Given the description of an element on the screen output the (x, y) to click on. 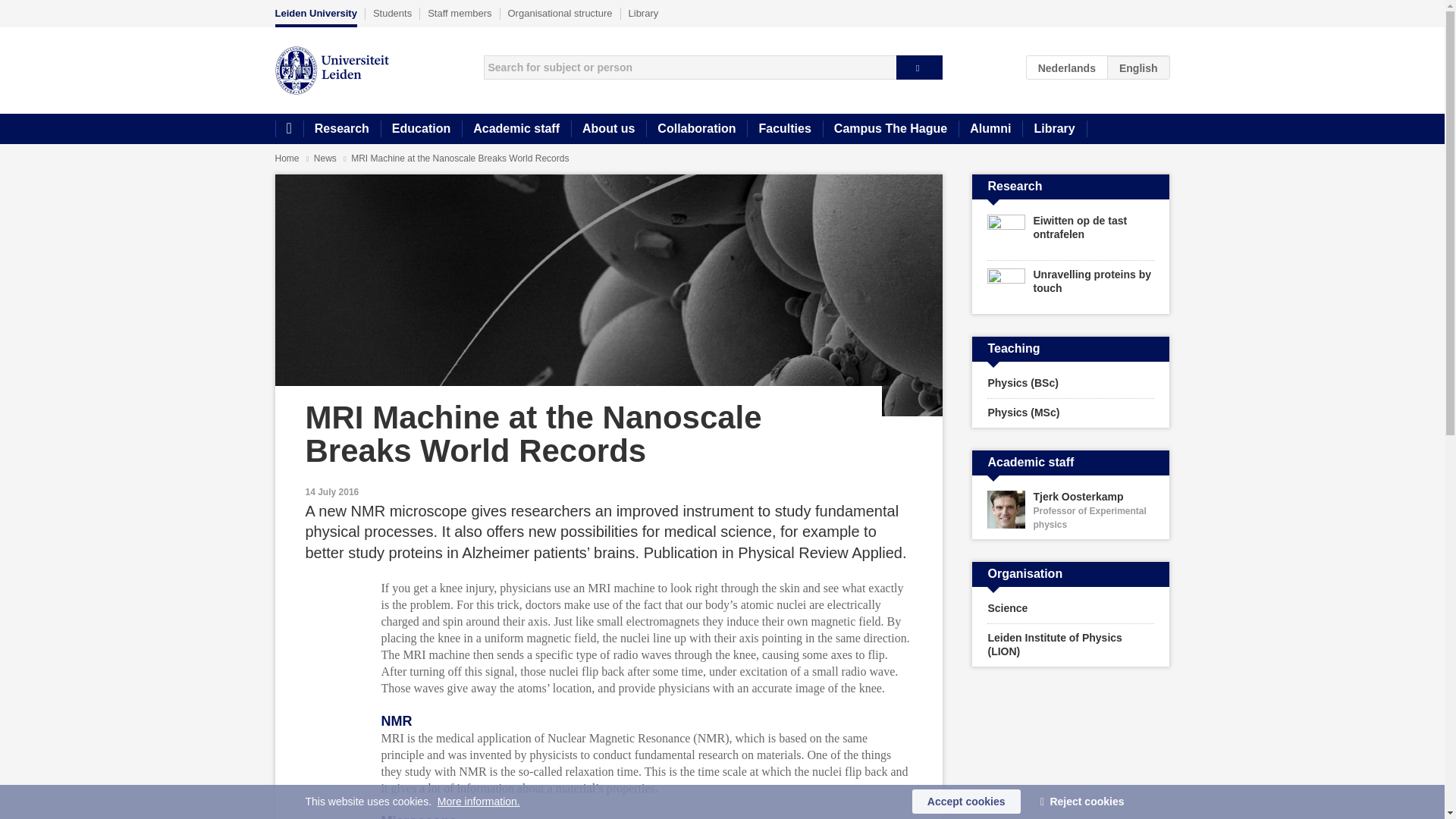
Alumni (990, 128)
Organisational structure (560, 13)
NL (1067, 67)
Students (392, 13)
Academic staff (515, 128)
Collaboration (696, 128)
Leiden University (315, 17)
Home (286, 158)
Library (643, 13)
News (326, 158)
Home (288, 128)
Campus The Hague (890, 128)
About us (608, 128)
Education (420, 128)
Library (1054, 128)
